Given the description of an element on the screen output the (x, y) to click on. 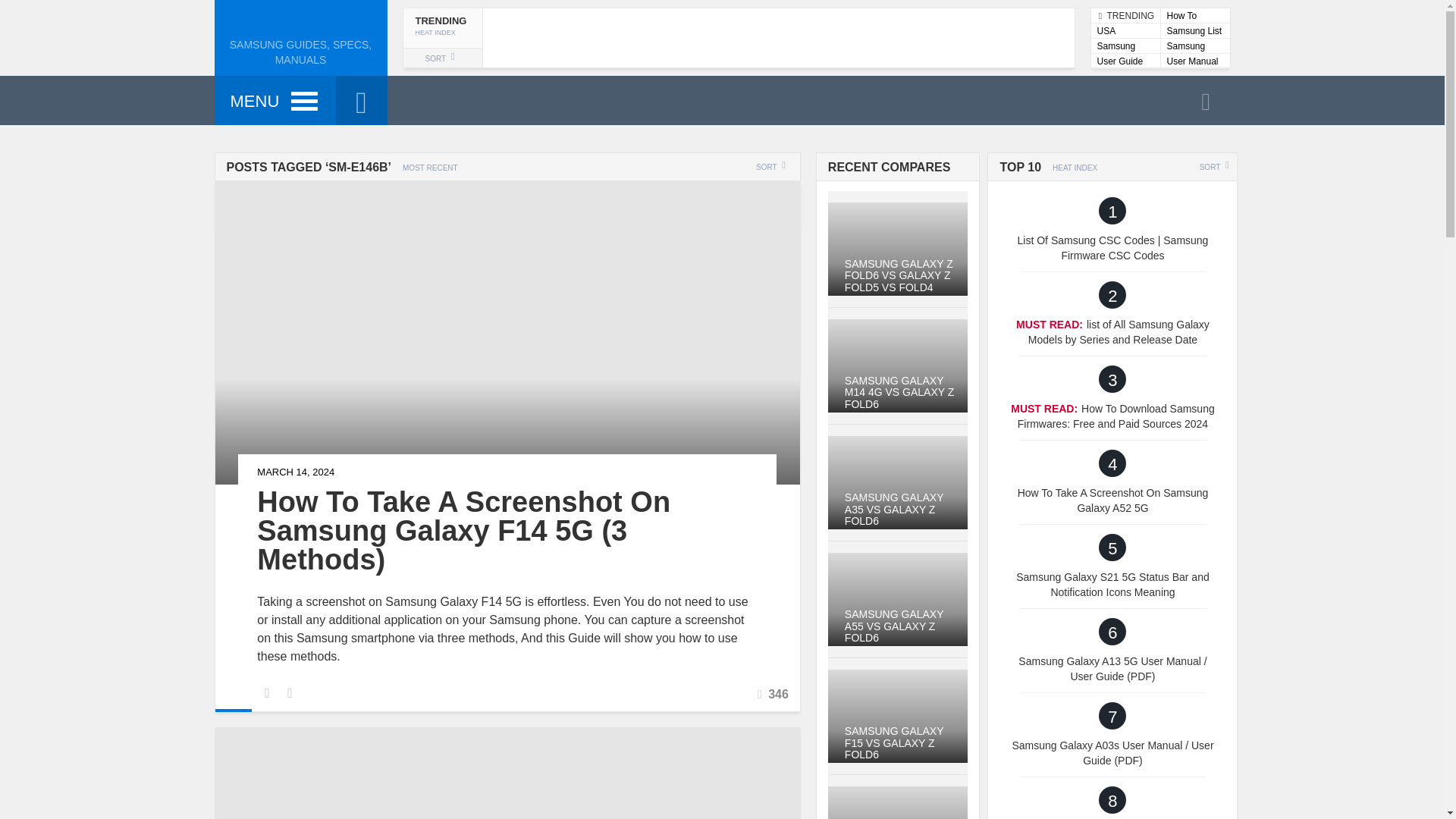
Samsung Lists (1124, 46)
Samsung User Manuals (737, 37)
USA (1194, 46)
Samsung List (1124, 30)
User Manual (1194, 30)
How To (1194, 61)
User Guide (1194, 15)
